Given the description of an element on the screen output the (x, y) to click on. 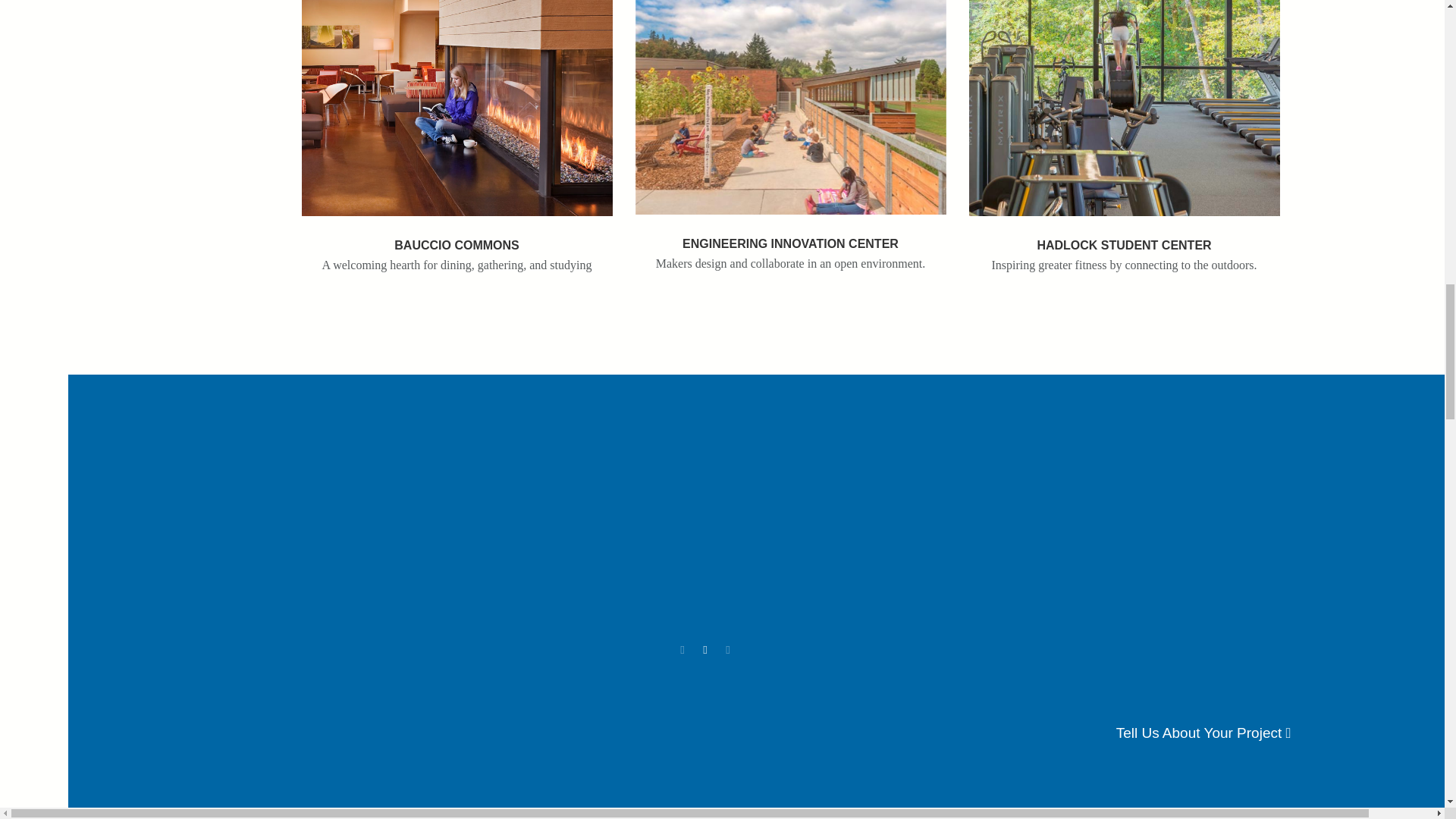
ENGINEERING INNOVATION CENTER (790, 236)
HADLOCK STUDENT CENTER (1123, 238)
Dallas High School CTE Building (1123, 238)
Meadow Ridge Elementary School (456, 238)
Tell Us About Your Project (1203, 732)
Hallinan Elementary School (790, 107)
BAUCCIO COMMONS (456, 238)
Hallinan Elementary School (790, 236)
Meadow Ridge Elementary School (456, 108)
Dallas High School CTE Building (1124, 108)
